Given the description of an element on the screen output the (x, y) to click on. 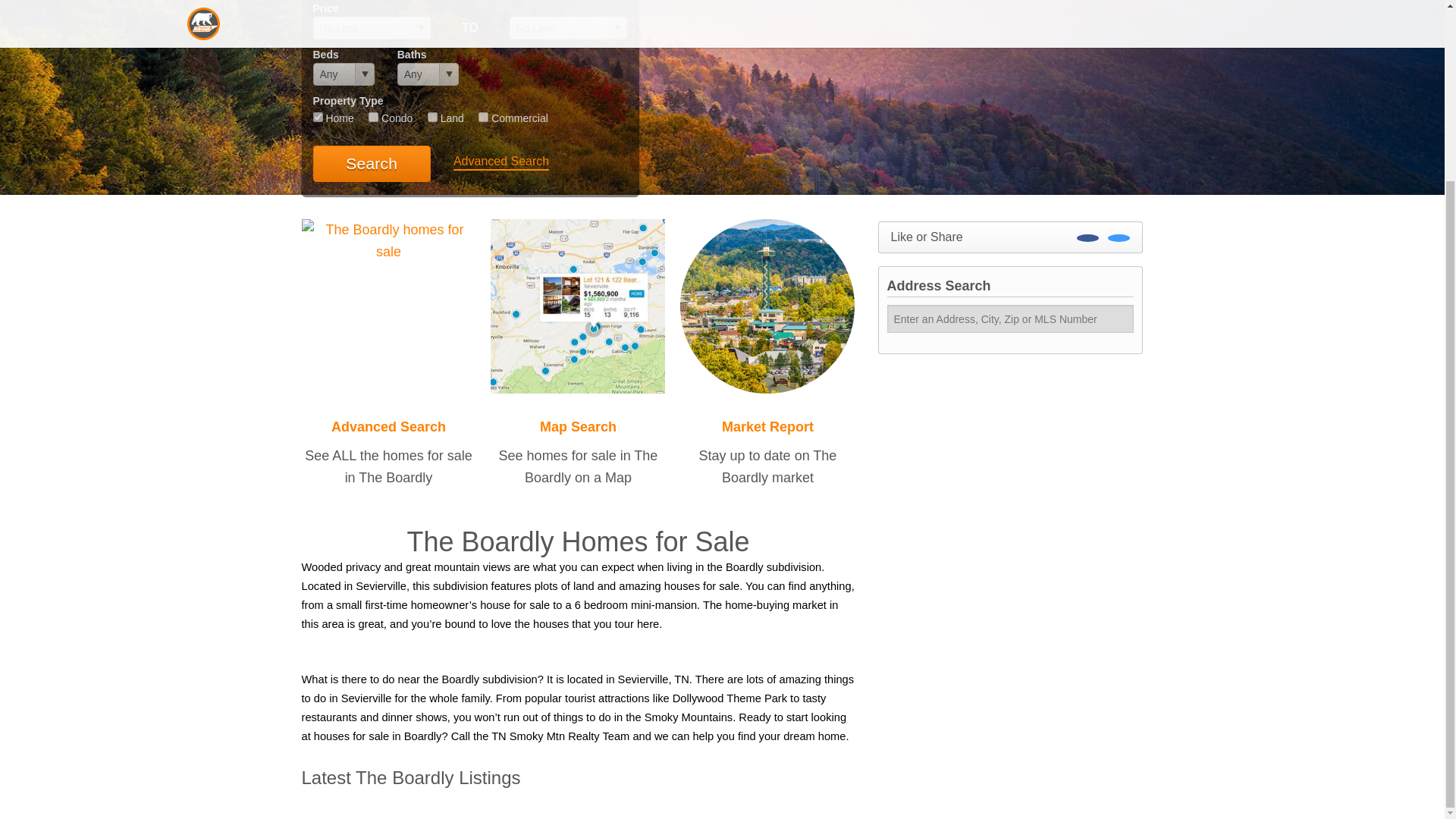
The Boardly Market Report (766, 305)
Search (371, 163)
Map Search (577, 426)
Like or Share (1009, 237)
The Boardly homes for sale (388, 426)
Advanced Search (388, 426)
Search (371, 163)
The Boardly Real Estate Map Search (577, 426)
The Boardly Real Estate Map Search (577, 305)
Advanced Search (500, 162)
